Given the description of an element on the screen output the (x, y) to click on. 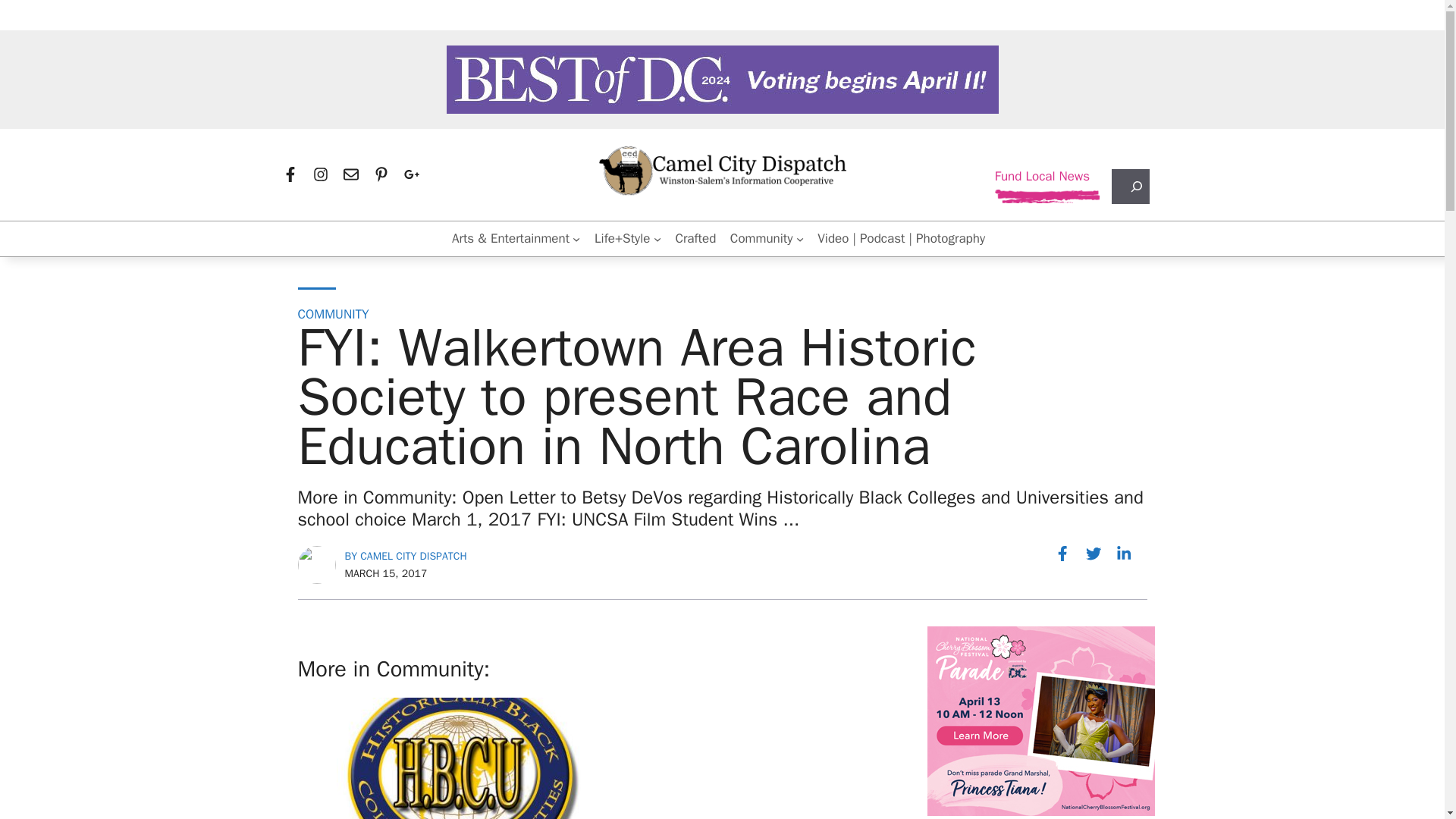
15544783424769106402 (1040, 720)
Fund Local News (1041, 176)
scribble-1 (1047, 196)
